Given the description of an element on the screen output the (x, y) to click on. 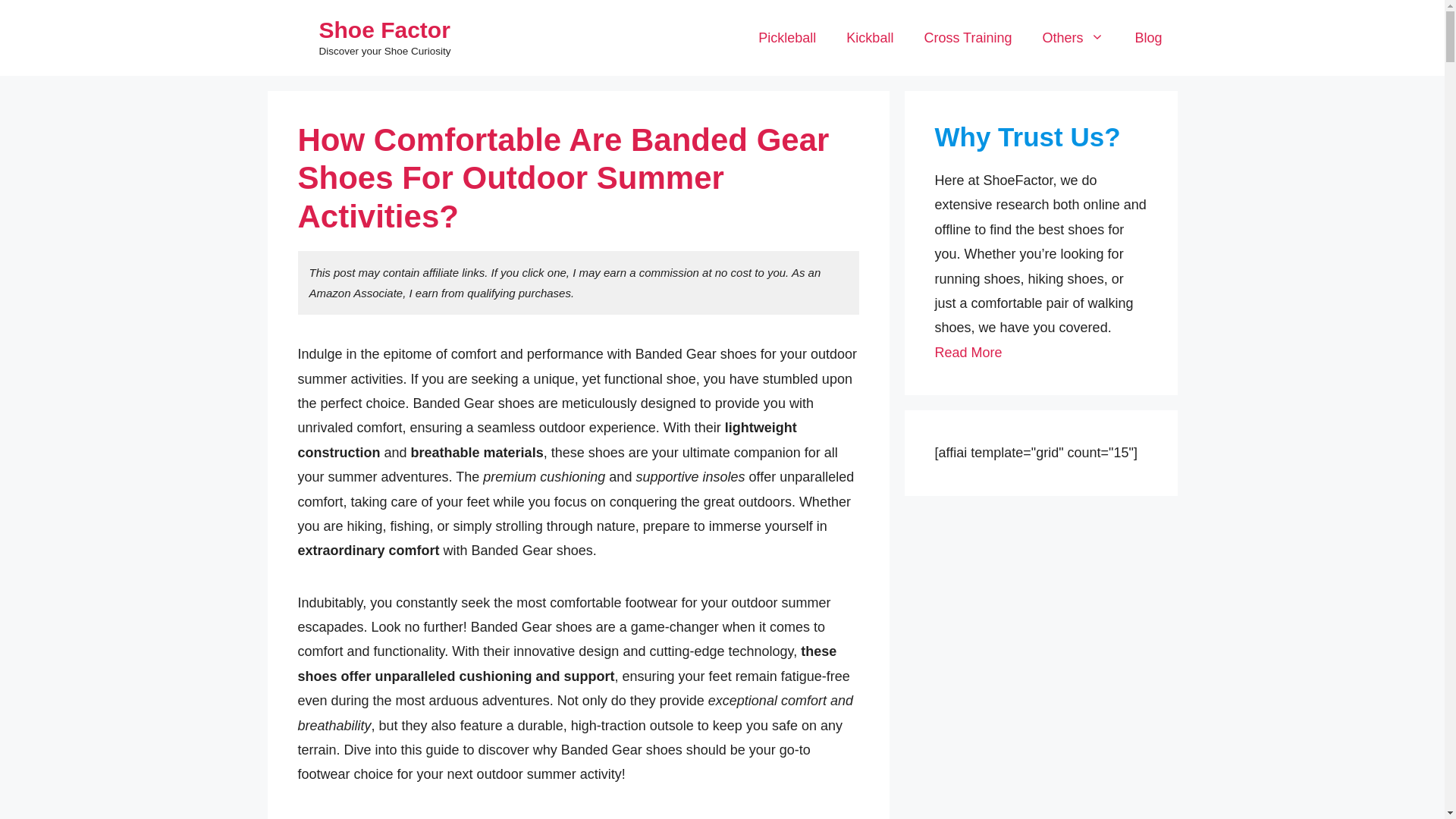
Others (1072, 37)
Pickleball (786, 37)
Shoe Factor (383, 29)
Cross Training (967, 37)
Kickball (869, 37)
Blog (1147, 37)
